Given the description of an element on the screen output the (x, y) to click on. 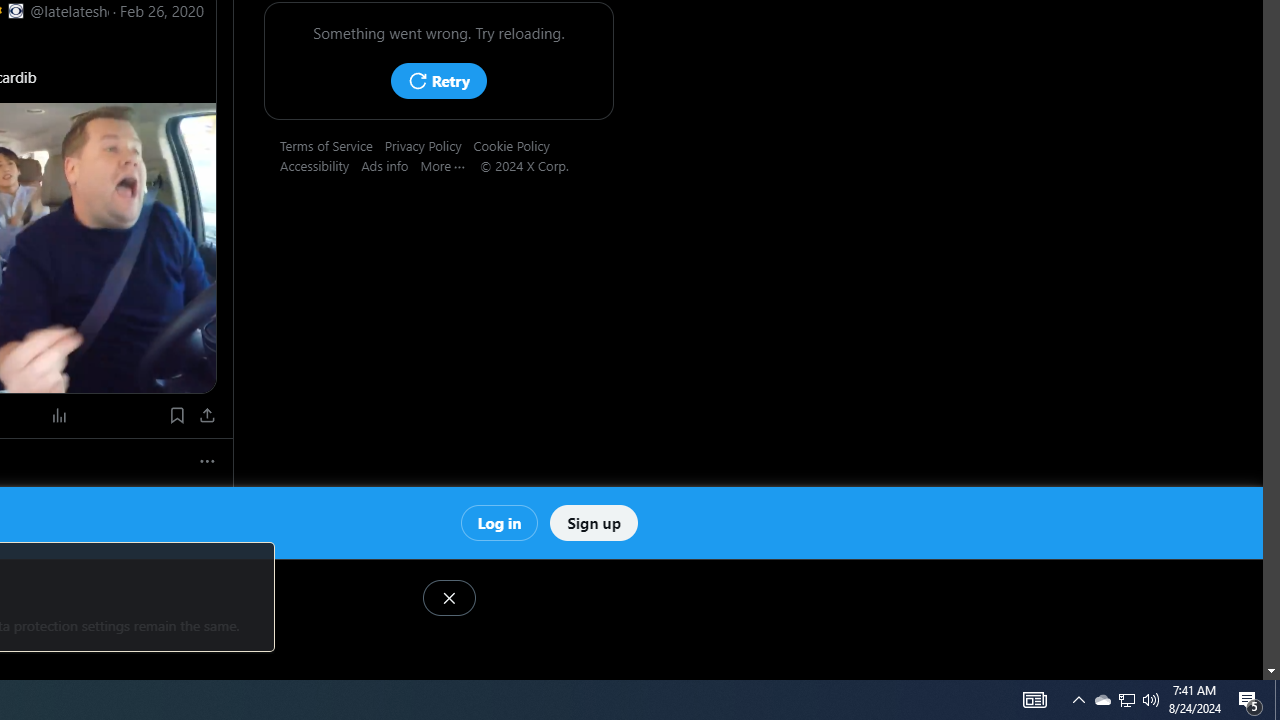
Terms of Service (332, 145)
Ads info (390, 165)
Log in (498, 522)
Privacy Policy (428, 145)
View post analytics (59, 415)
Sign up (593, 522)
More (450, 165)
Accessibility (321, 165)
Retry (438, 80)
Cookie Policy (517, 145)
Share post (207, 415)
Bookmark (176, 415)
